Given the description of an element on the screen output the (x, y) to click on. 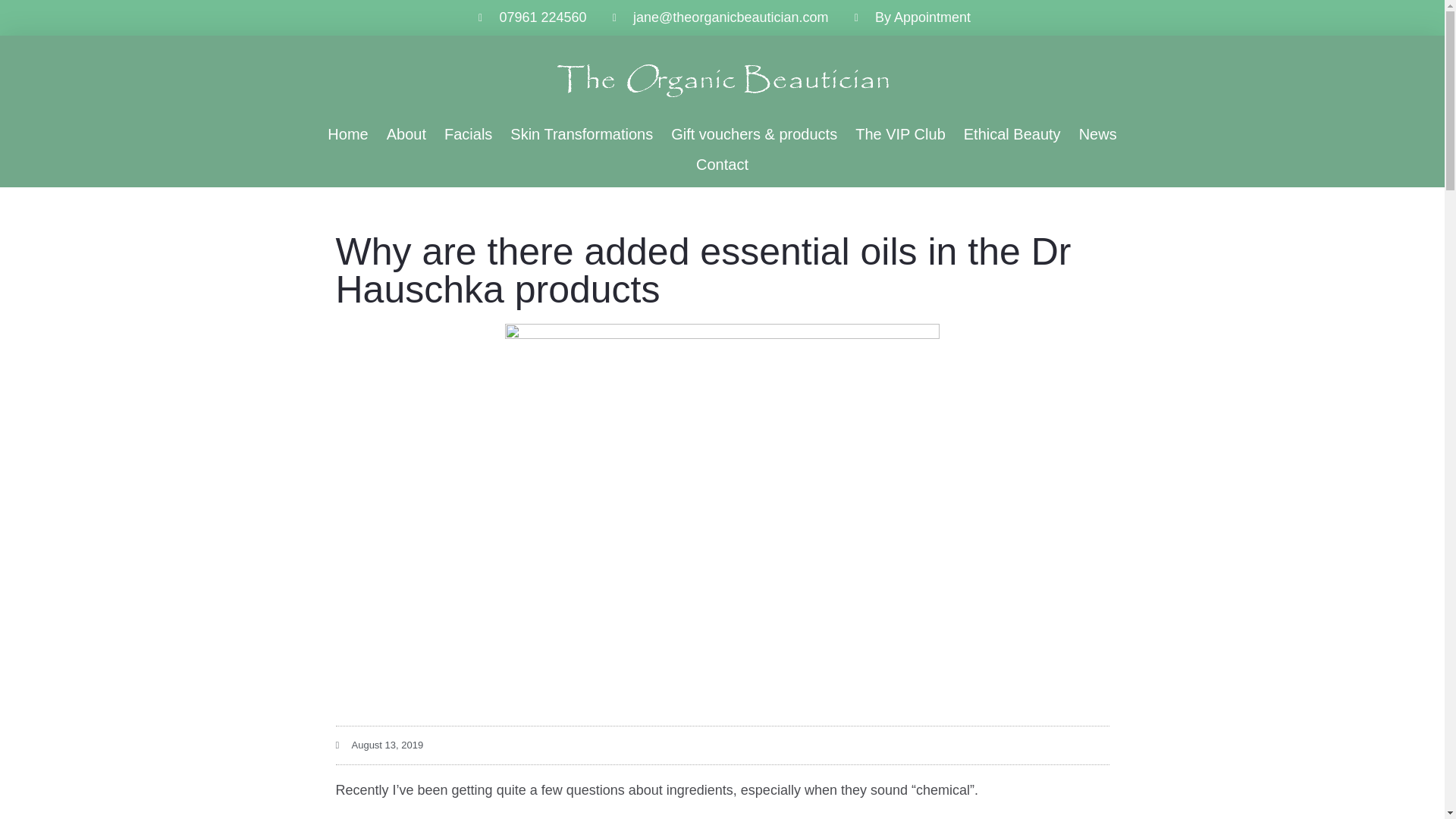
August 13, 2019 (378, 744)
The VIP Club (900, 133)
Facials (467, 133)
Skin Transformations (581, 133)
Home (347, 133)
About (406, 133)
Contact (722, 164)
News (1097, 133)
Ethical Beauty (1012, 133)
